Given the description of an element on the screen output the (x, y) to click on. 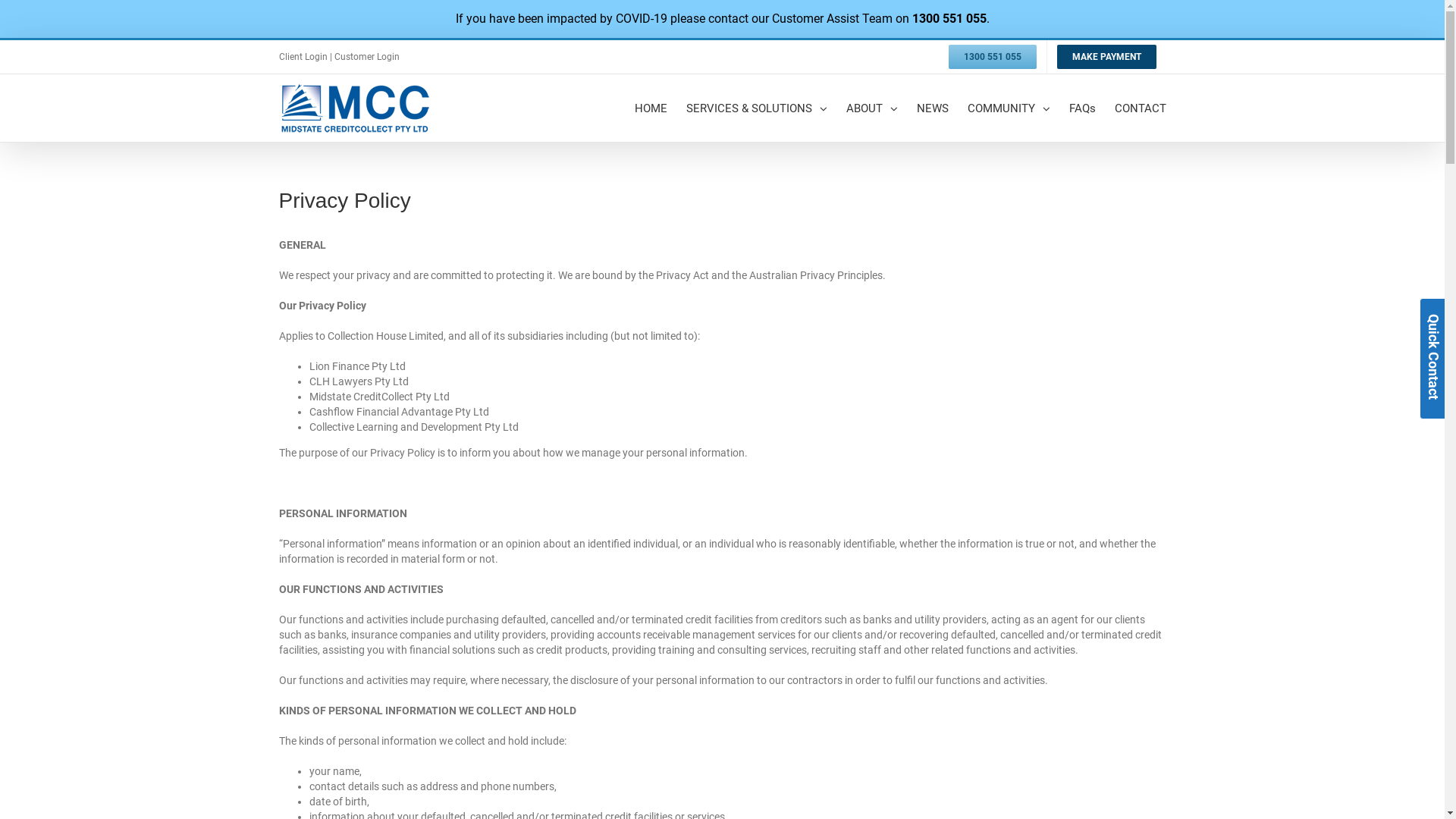
COMMUNITY Element type: text (1008, 107)
1300 551 055 Element type: text (992, 56)
FAQs Element type: text (1082, 107)
SERVICES & SOLUTIONS Element type: text (755, 107)
Customer Login Element type: text (365, 56)
MAKE PAYMENT Element type: text (1105, 56)
Client Login Element type: text (304, 56)
NEWS Element type: text (931, 107)
ABOUT Element type: text (871, 107)
HOME Element type: text (649, 107)
CONTACT Element type: text (1140, 107)
